Given the description of an element on the screen output the (x, y) to click on. 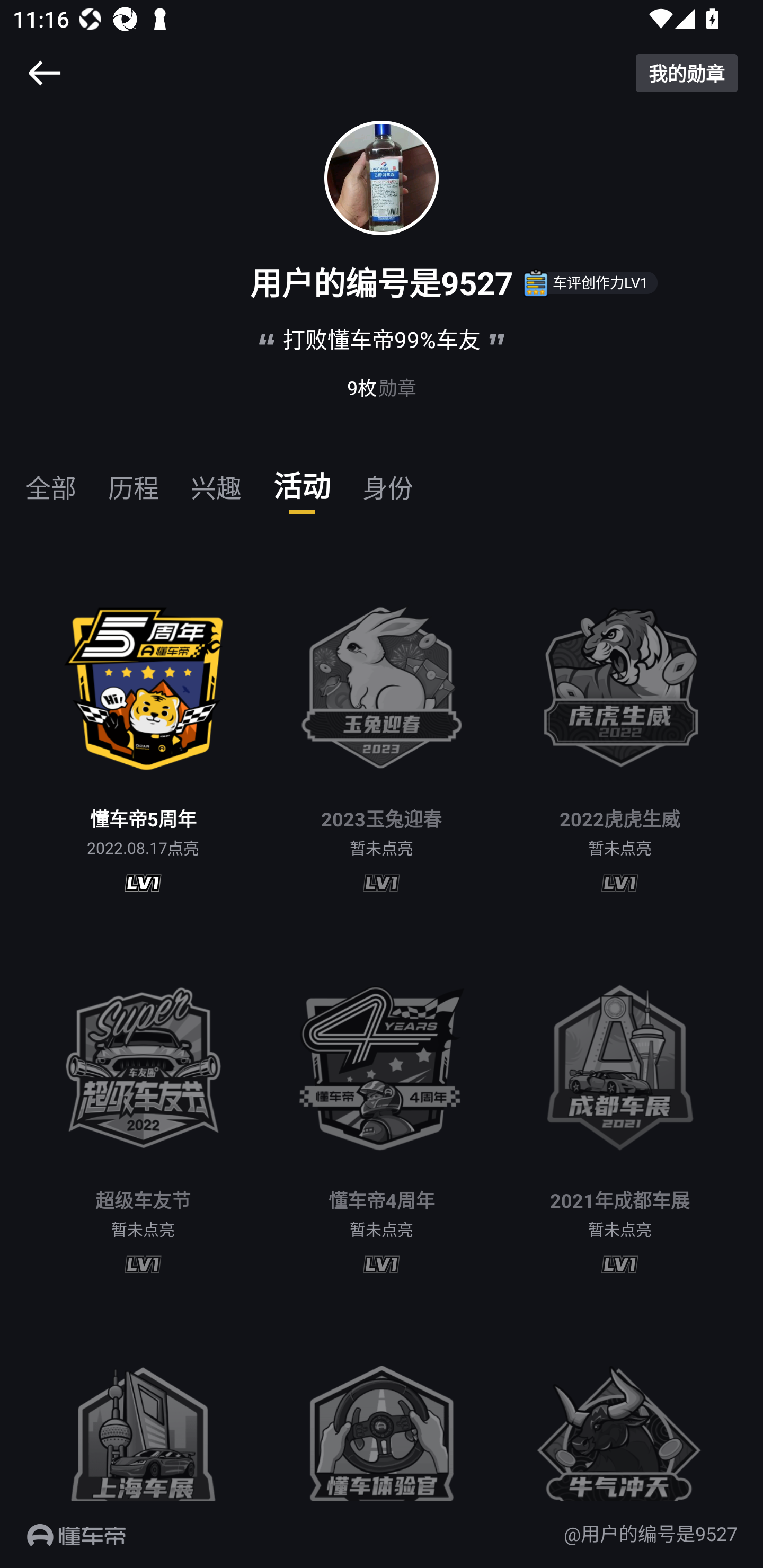
 (44, 72)
我的勋章 (686, 72)
全部 (50, 479)
历程 (133, 479)
兴趣 (215, 479)
活动 (301, 479)
身份 (387, 479)
懂车帝5周年 2022.08.17点亮 (142, 731)
2023玉兔迎春 暂未点亮 (381, 731)
2022虎虎生威 暂未点亮 (619, 731)
超级车友节 暂未点亮 (142, 1113)
懂车帝4周年 暂未点亮 (381, 1113)
2021年成都车展 暂未点亮 (619, 1113)
